Given the description of an element on the screen output the (x, y) to click on. 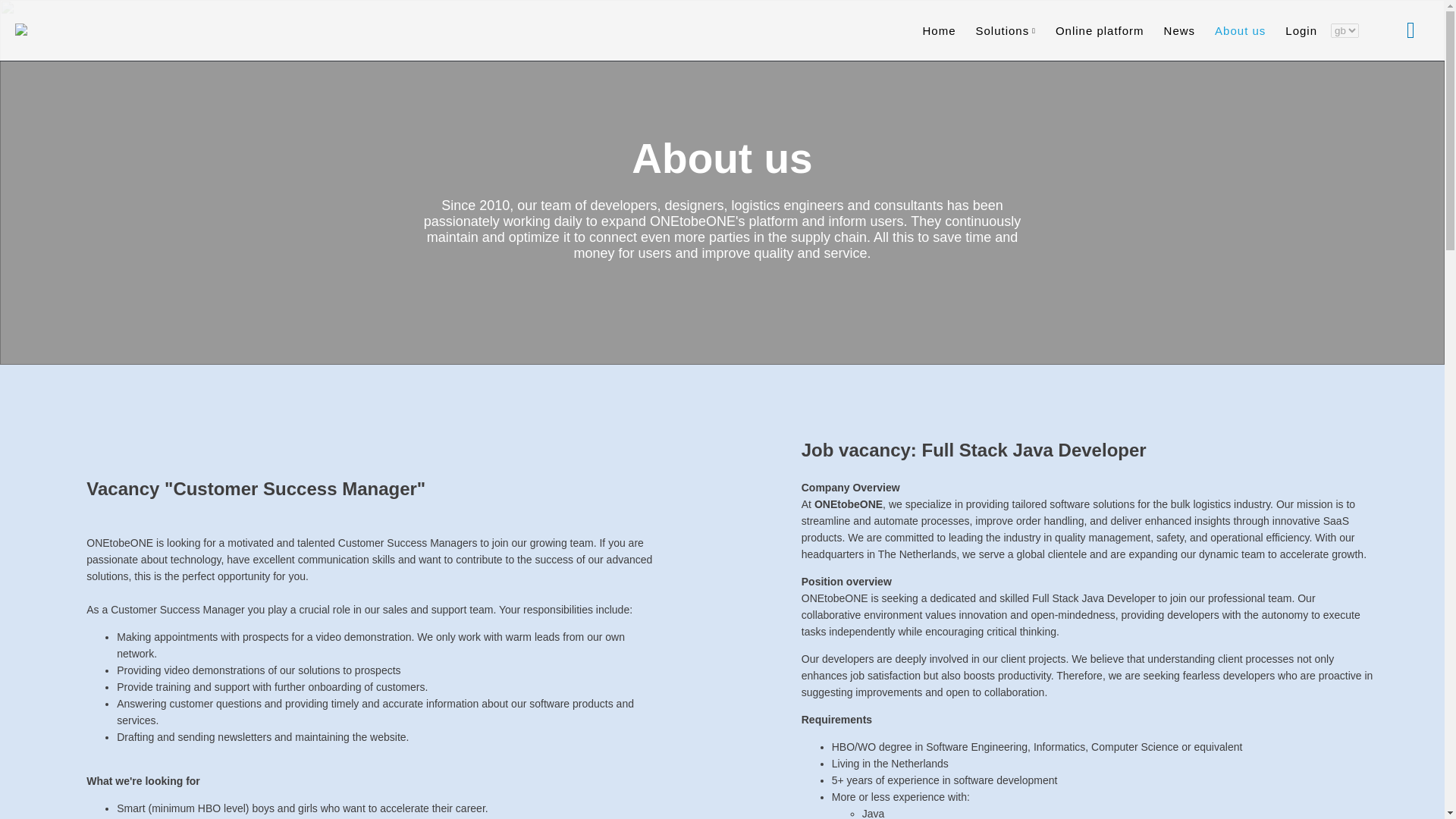
Solutions (1005, 30)
About us (1239, 30)
Online platform (1099, 30)
